Given the description of an element on the screen output the (x, y) to click on. 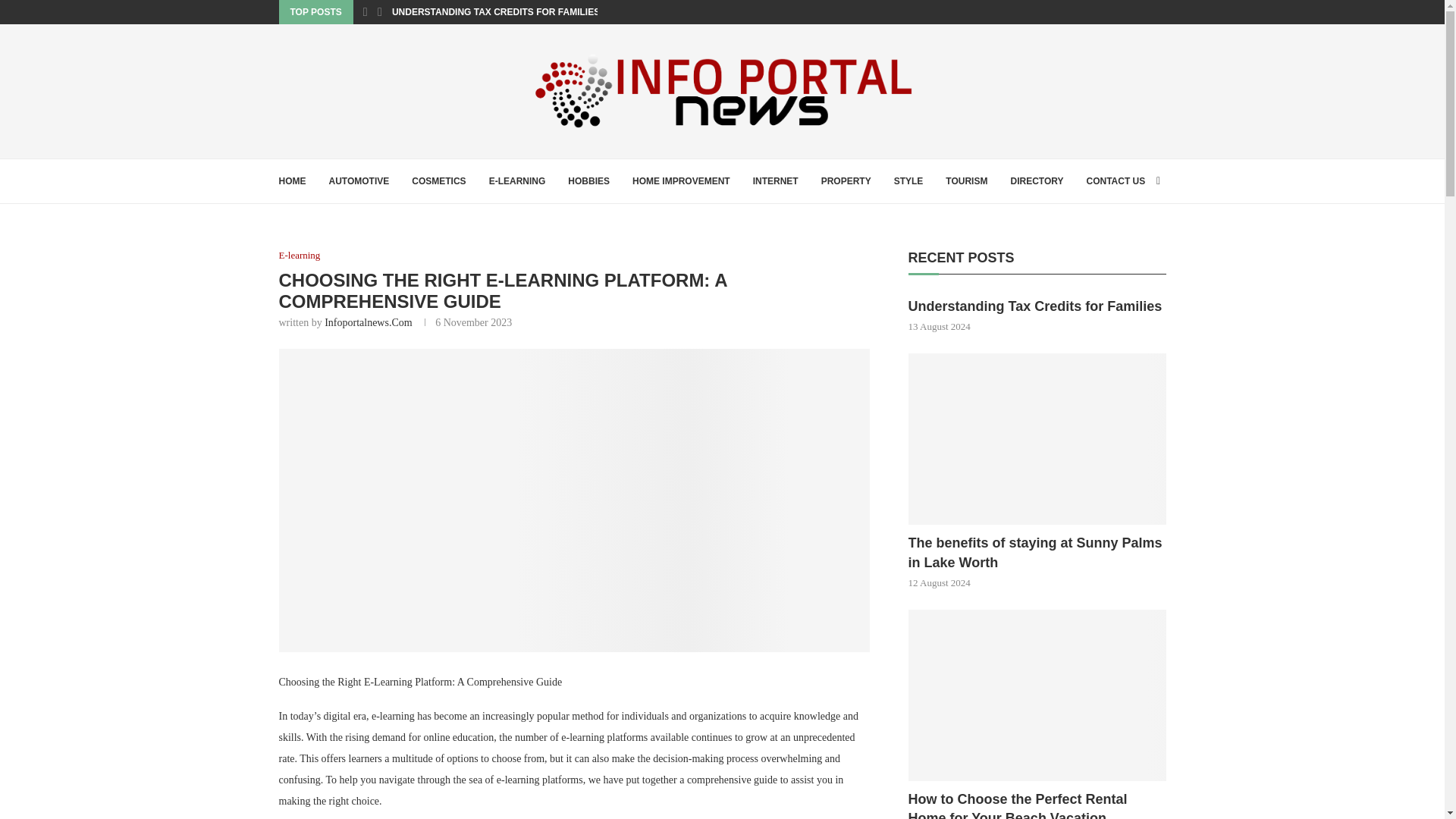
HOME IMPROVEMENT (680, 180)
UNDERSTANDING TAX CREDITS FOR FAMILIES (495, 12)
AUTOMOTIVE (359, 180)
DIRECTORY (1036, 180)
PROPERTY (845, 180)
E-learning (299, 255)
INTERNET (774, 180)
COSMETICS (438, 180)
E-LEARNING (517, 180)
